Given the description of an element on the screen output the (x, y) to click on. 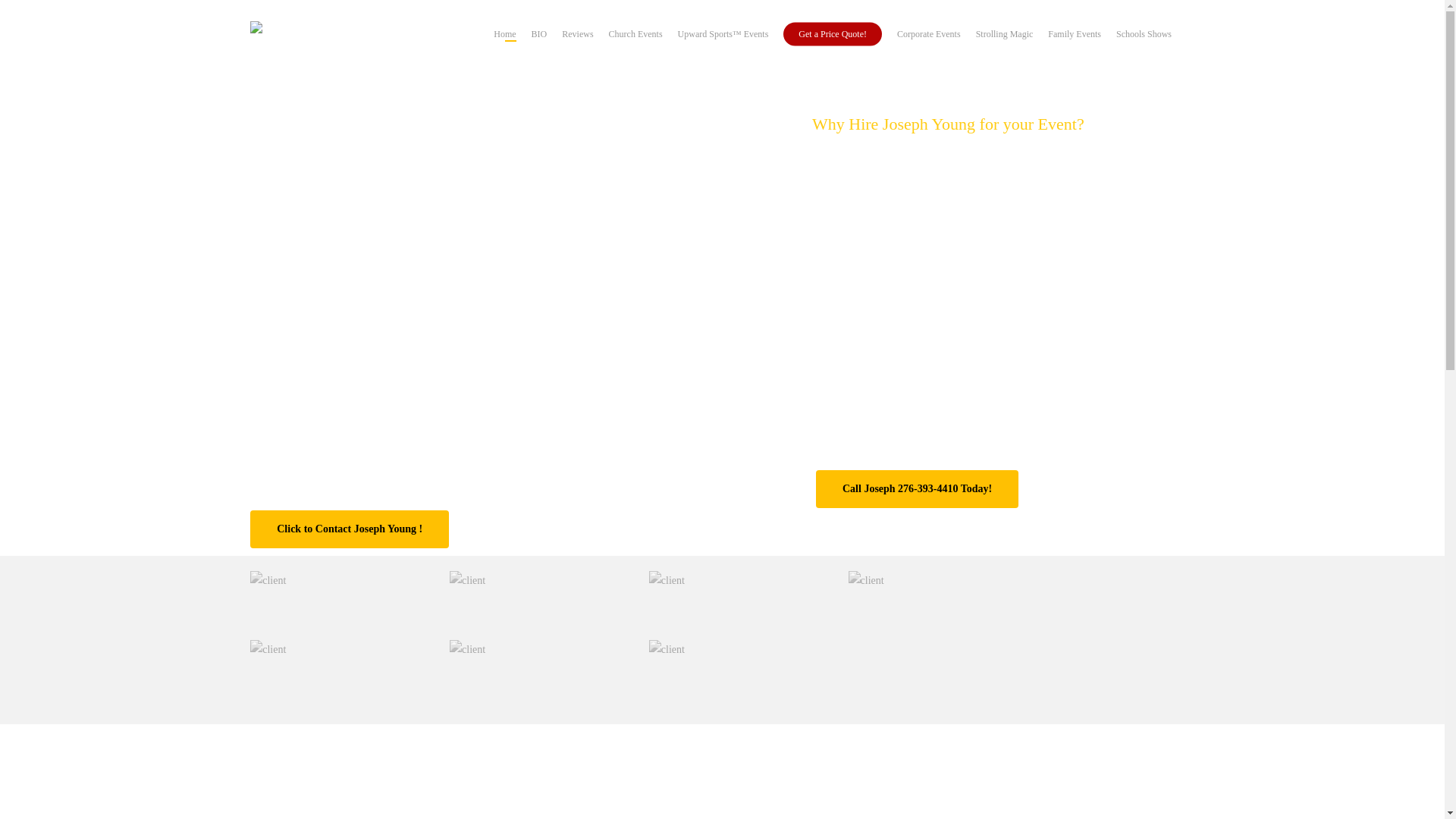
Call Joseph 276-393-4410 Today! (916, 488)
Strolling Magic (1004, 33)
Reviews (577, 33)
Get a Price Quote! (832, 33)
Schools Shows (1144, 33)
Family Events (1074, 33)
Home (504, 33)
Click to Contact Joseph Young ! (349, 528)
Corporate Events (928, 33)
BIO (539, 33)
